Given the description of an element on the screen output the (x, y) to click on. 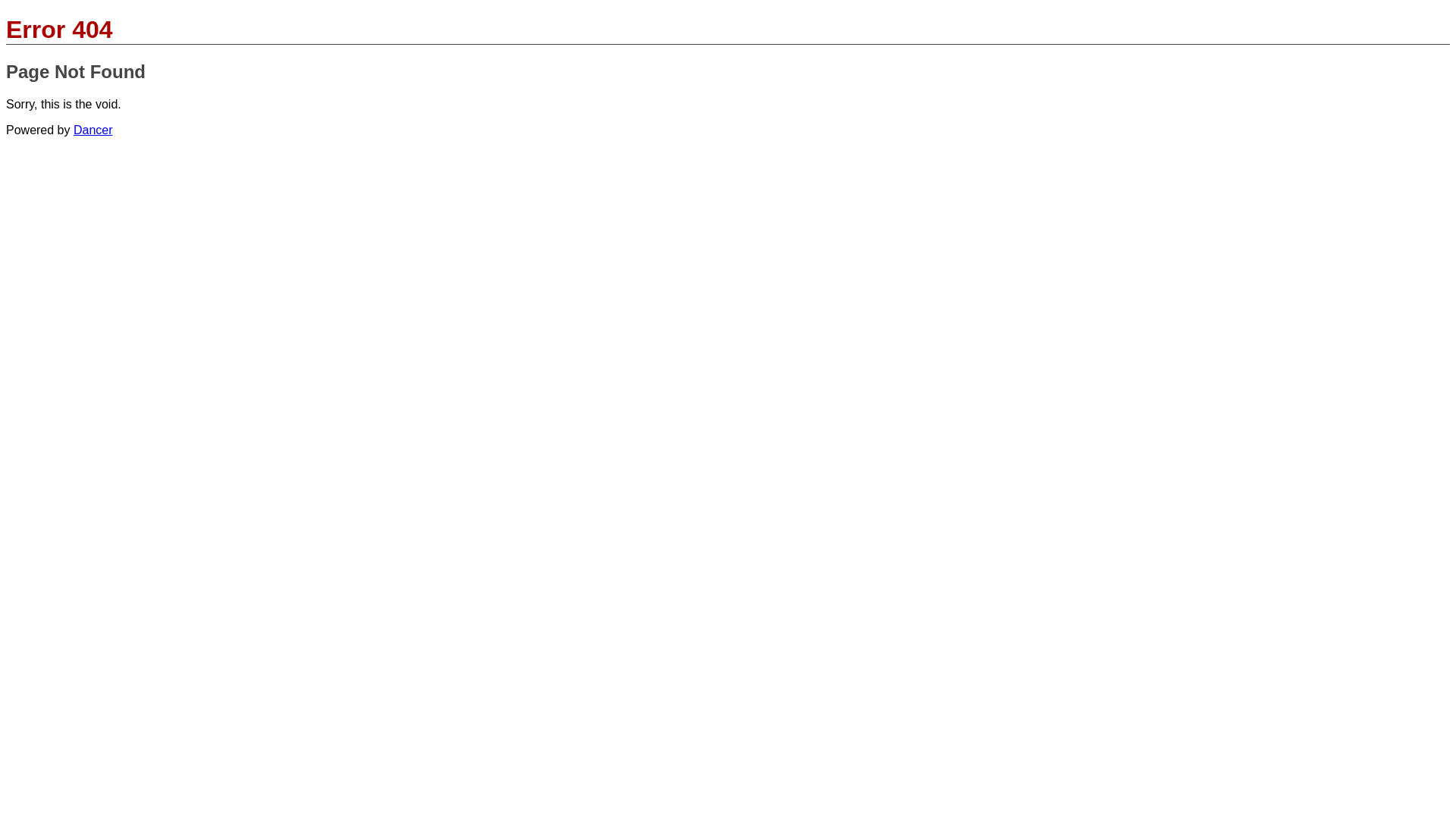
Dancer Element type: text (92, 129)
